Given the description of an element on the screen output the (x, y) to click on. 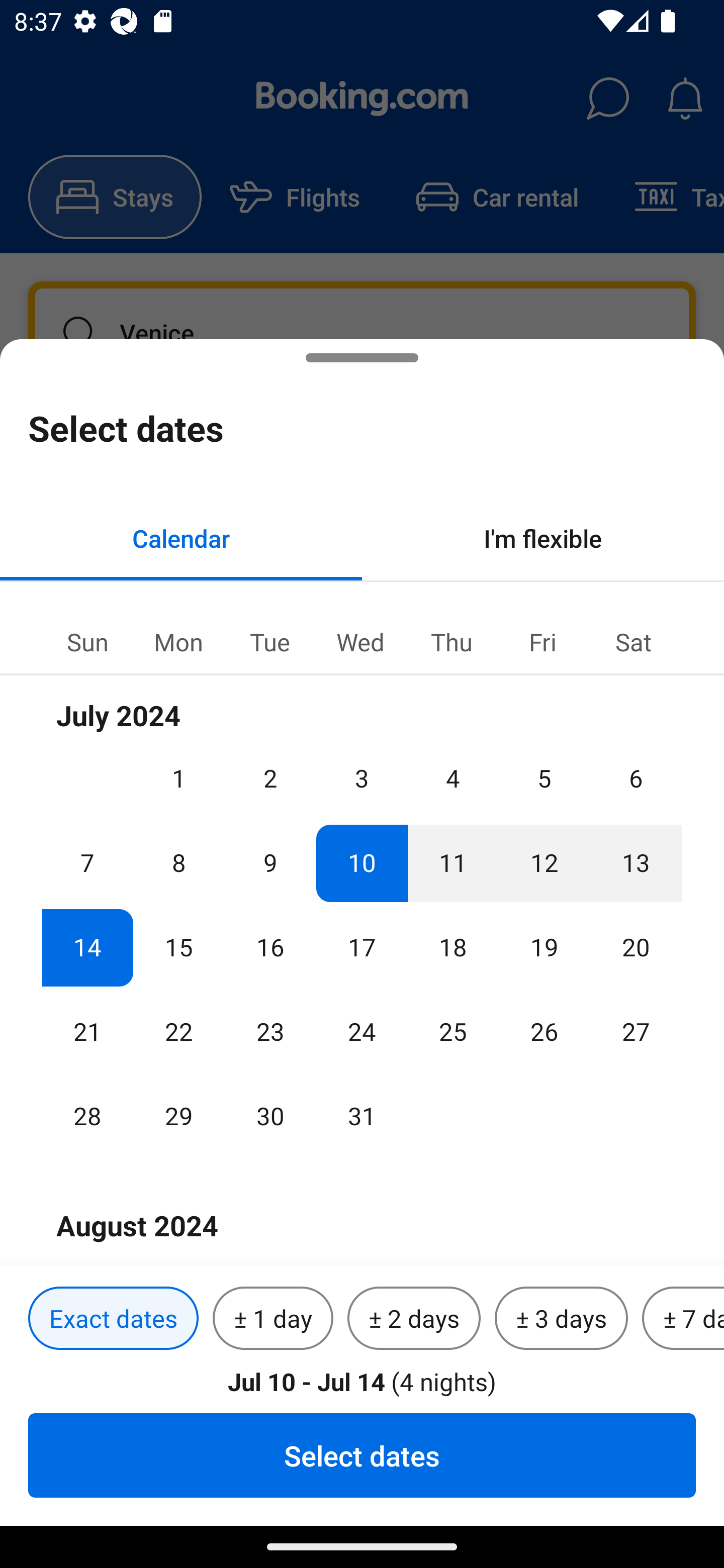
I'm flexible (543, 537)
Exact dates (113, 1318)
± 1 day (272, 1318)
± 2 days (413, 1318)
± 3 days (560, 1318)
± 7 days (683, 1318)
Select dates (361, 1454)
